Given the description of an element on the screen output the (x, y) to click on. 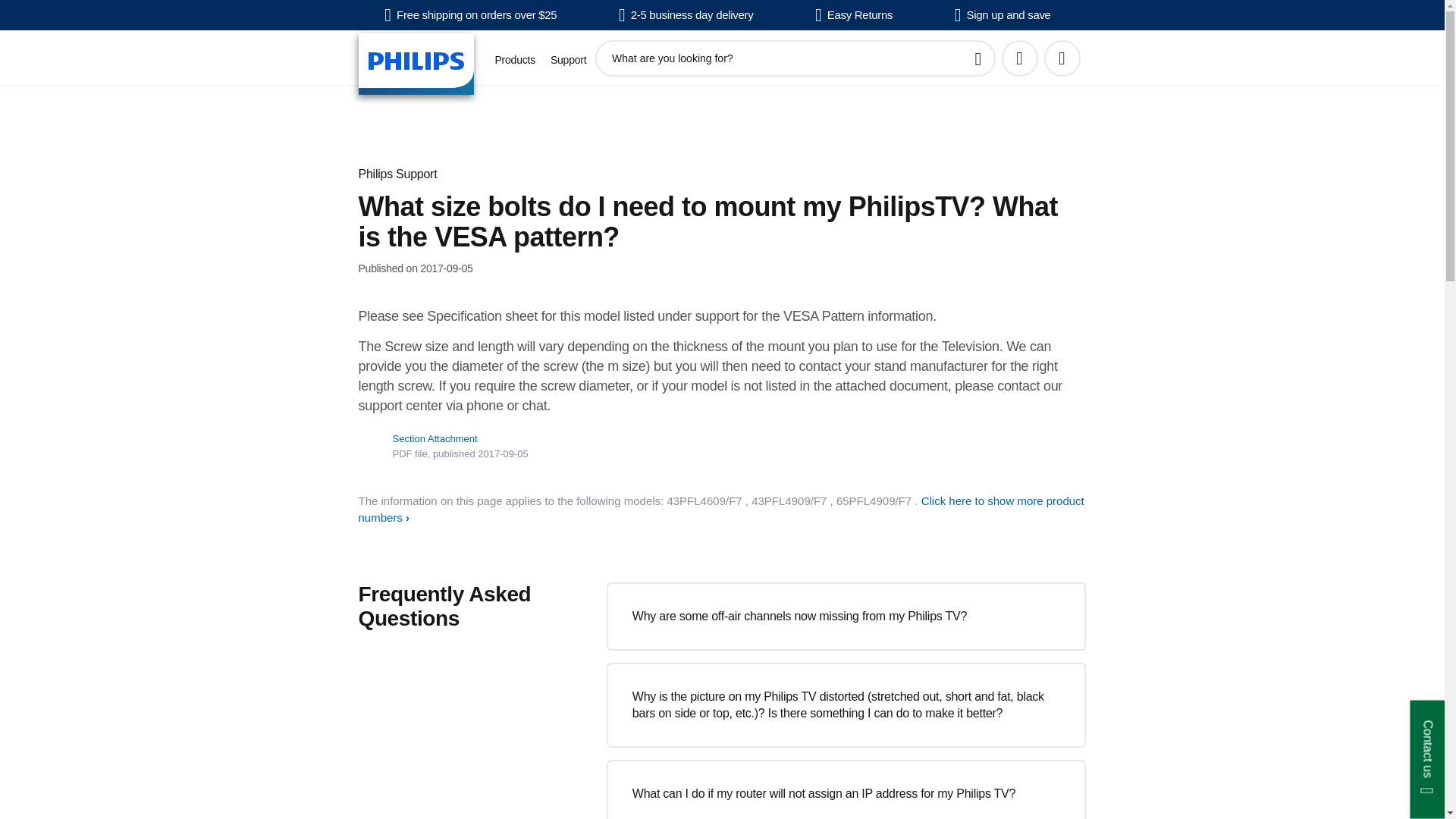
Easy Returns (853, 15)
Home (415, 64)
Products (513, 59)
Sign up and save (1003, 15)
